Given the description of an element on the screen output the (x, y) to click on. 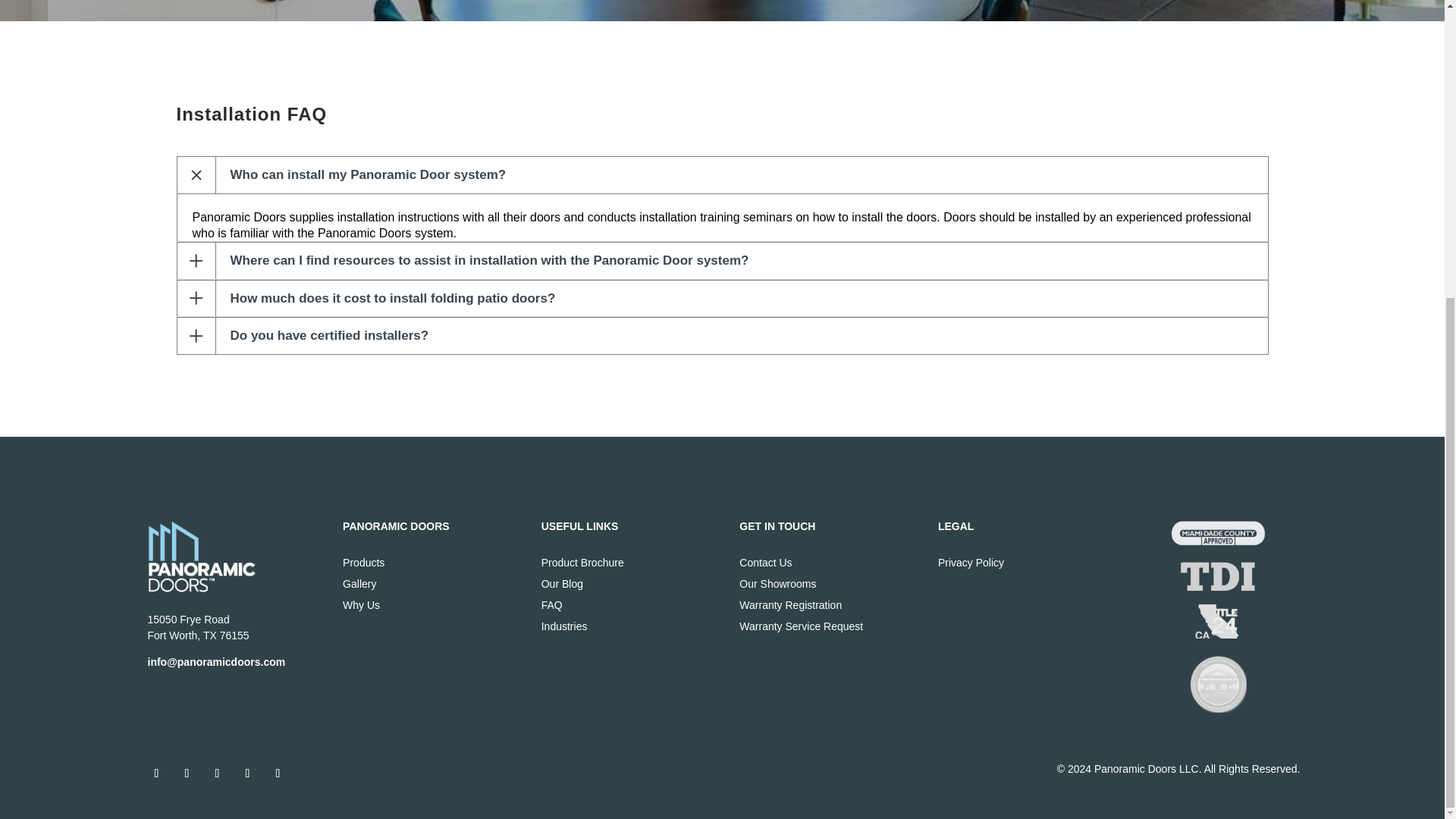
Follow on Instagram (216, 773)
4 (1218, 575)
Follow on TikTok (246, 773)
Panoramic-Doors-Stacked-Logo-W (201, 556)
1 (1218, 532)
Follow on Facebook (156, 773)
Follow on LinkedIn (276, 773)
Follow on X (186, 773)
2 (1218, 684)
3 (1218, 621)
